Given the description of an element on the screen output the (x, y) to click on. 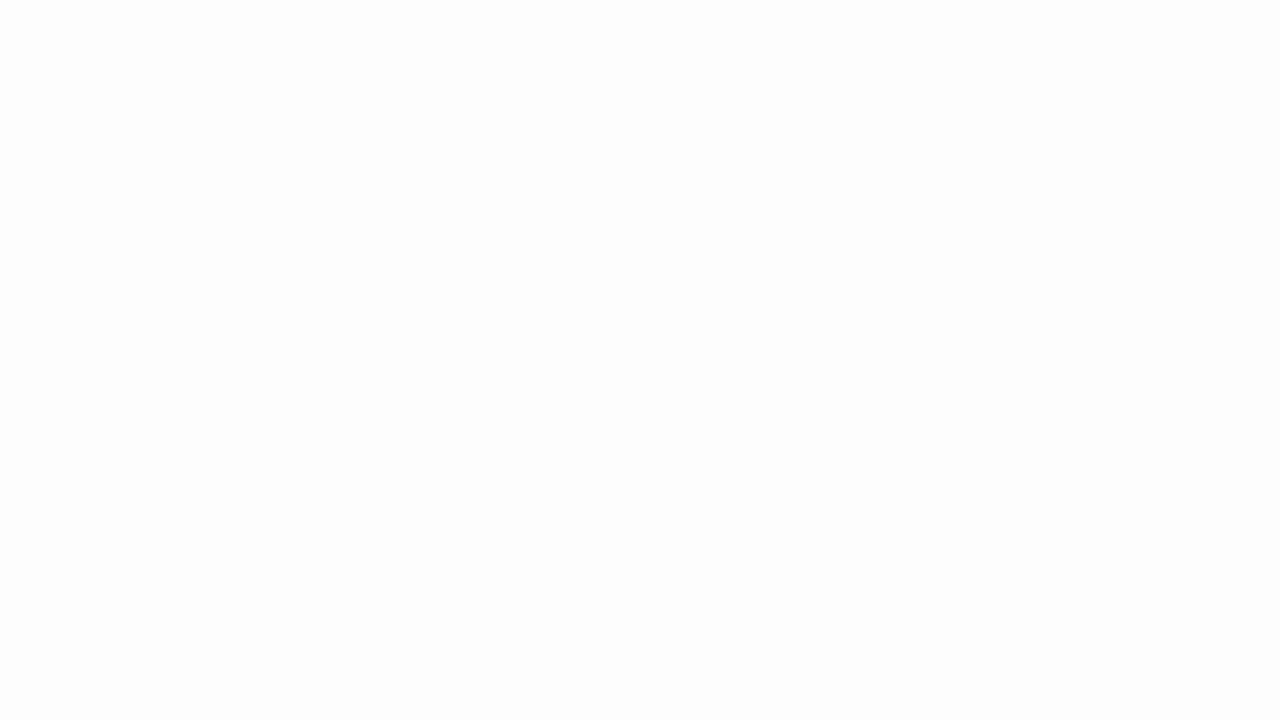
Underline (232, 119)
Comma Style (804, 119)
Format Cell Alignment (714, 151)
Font Color (370, 119)
